Given the description of an element on the screen output the (x, y) to click on. 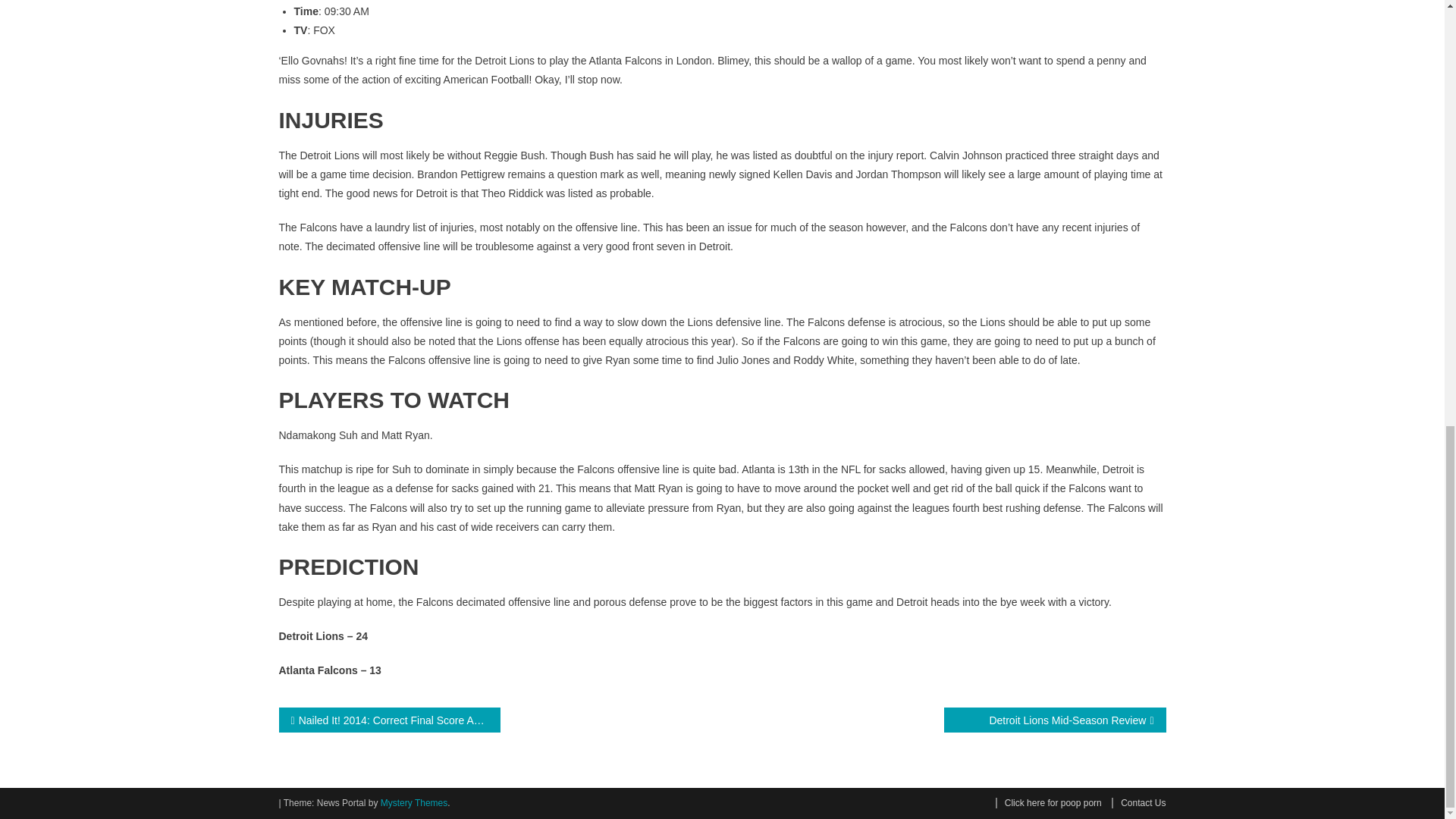
Nailed It! 2014: Correct Final Score Again! (389, 719)
Contact Us (1139, 802)
Mystery Themes (413, 802)
Click here for poop porn (1048, 802)
Detroit Lions Mid-Season Review (1054, 719)
